Given the description of an element on the screen output the (x, y) to click on. 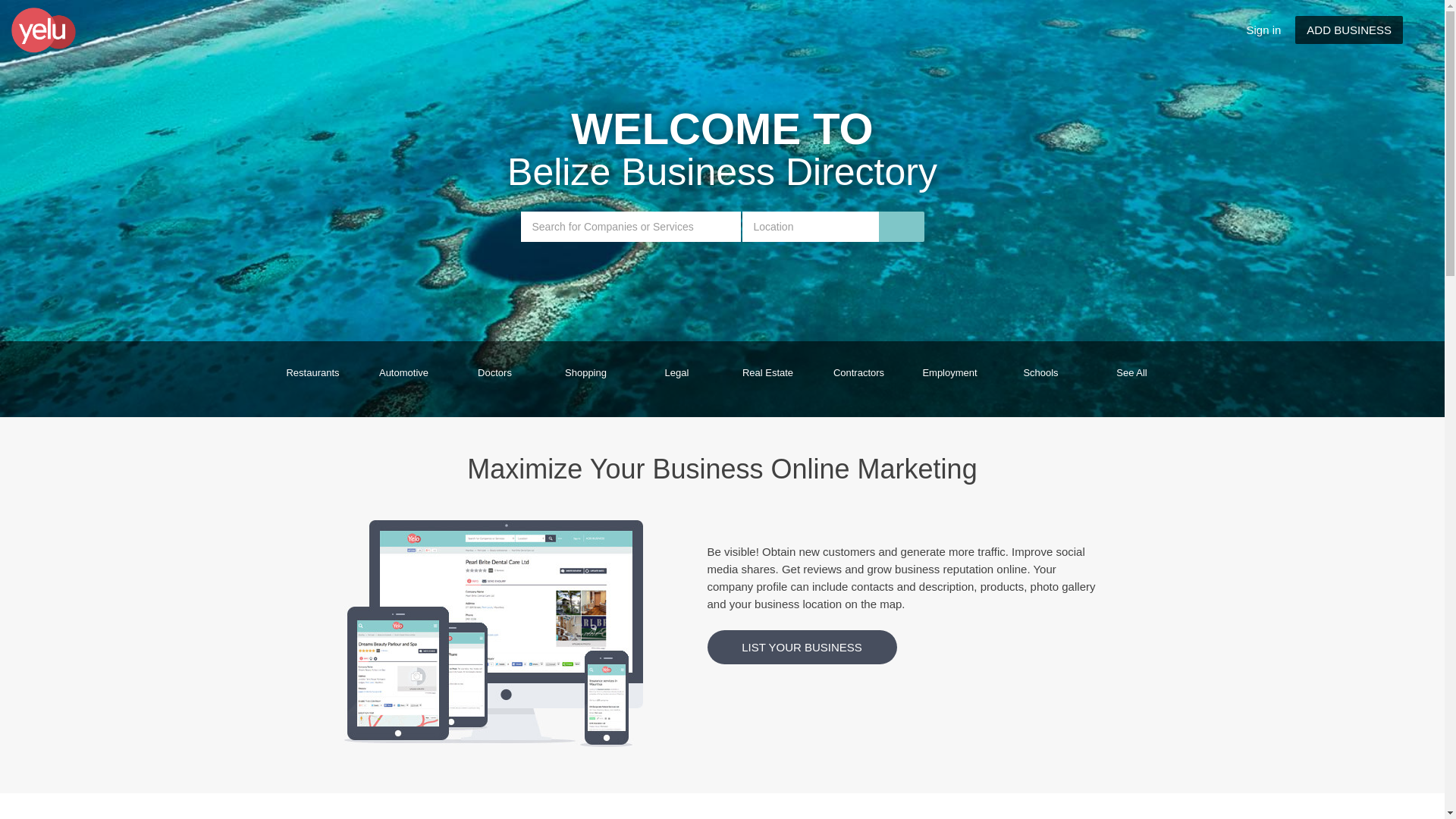
Schools Element type: text (1039, 379)
Legal Element type: text (675, 379)
Restaurants Element type: text (311, 379)
Sign in Element type: text (1263, 29)
Automotive Element type: text (402, 379)
Employment Element type: text (948, 379)
Real Estate Element type: text (766, 379)
Contractors Element type: text (857, 379)
Search Element type: text (17, 7)
ADD BUSINESS Element type: text (1348, 29)
Belize Business Directory - Yelu Belize Element type: text (68, 30)
Doctors Element type: text (493, 379)
Shopping Element type: text (584, 379)
LIST YOUR BUSINESS Element type: text (801, 647)
See All Element type: text (1130, 379)
